Given the description of an element on the screen output the (x, y) to click on. 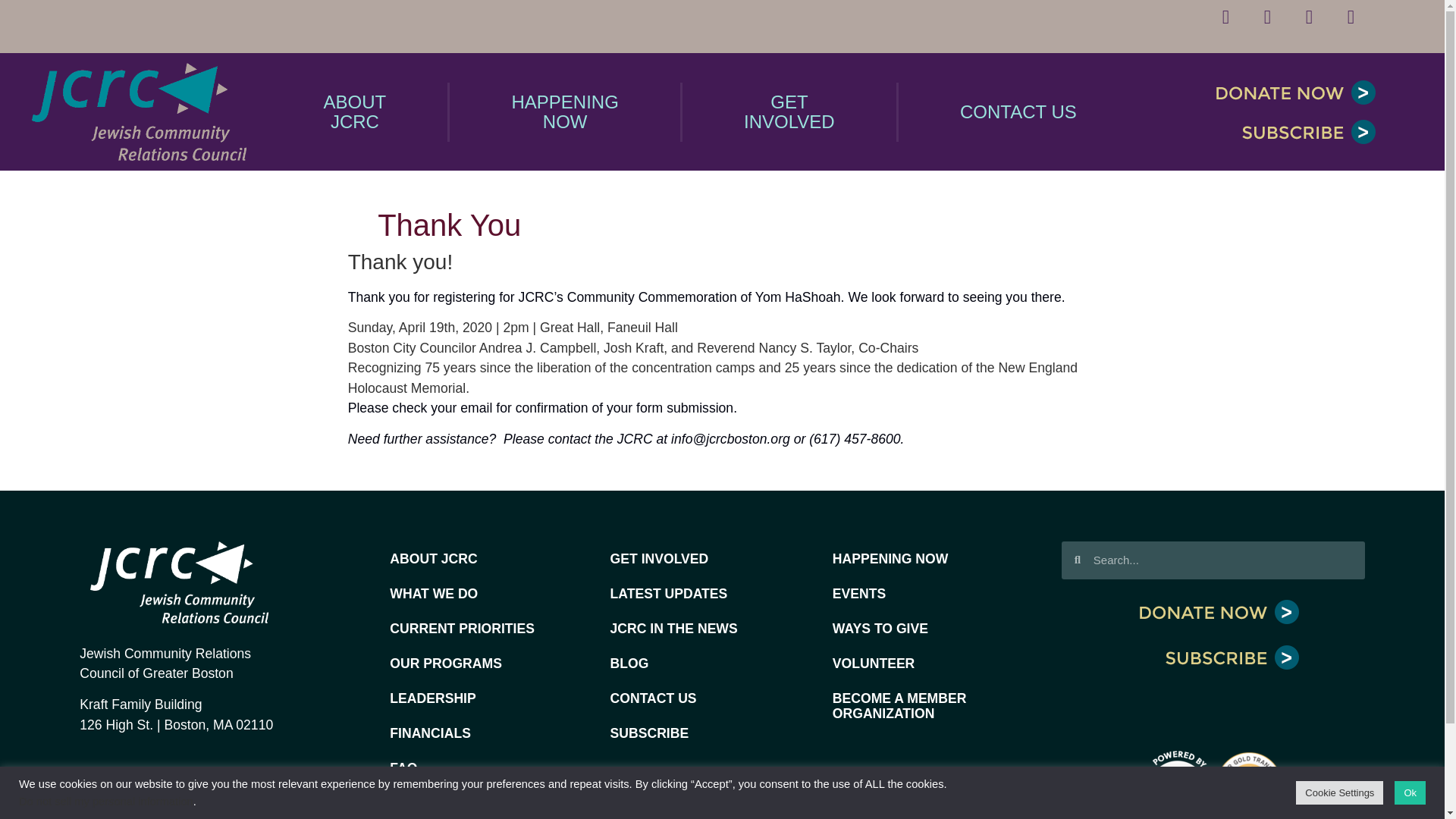
CONTACT US (355, 111)
